Given the description of an element on the screen output the (x, y) to click on. 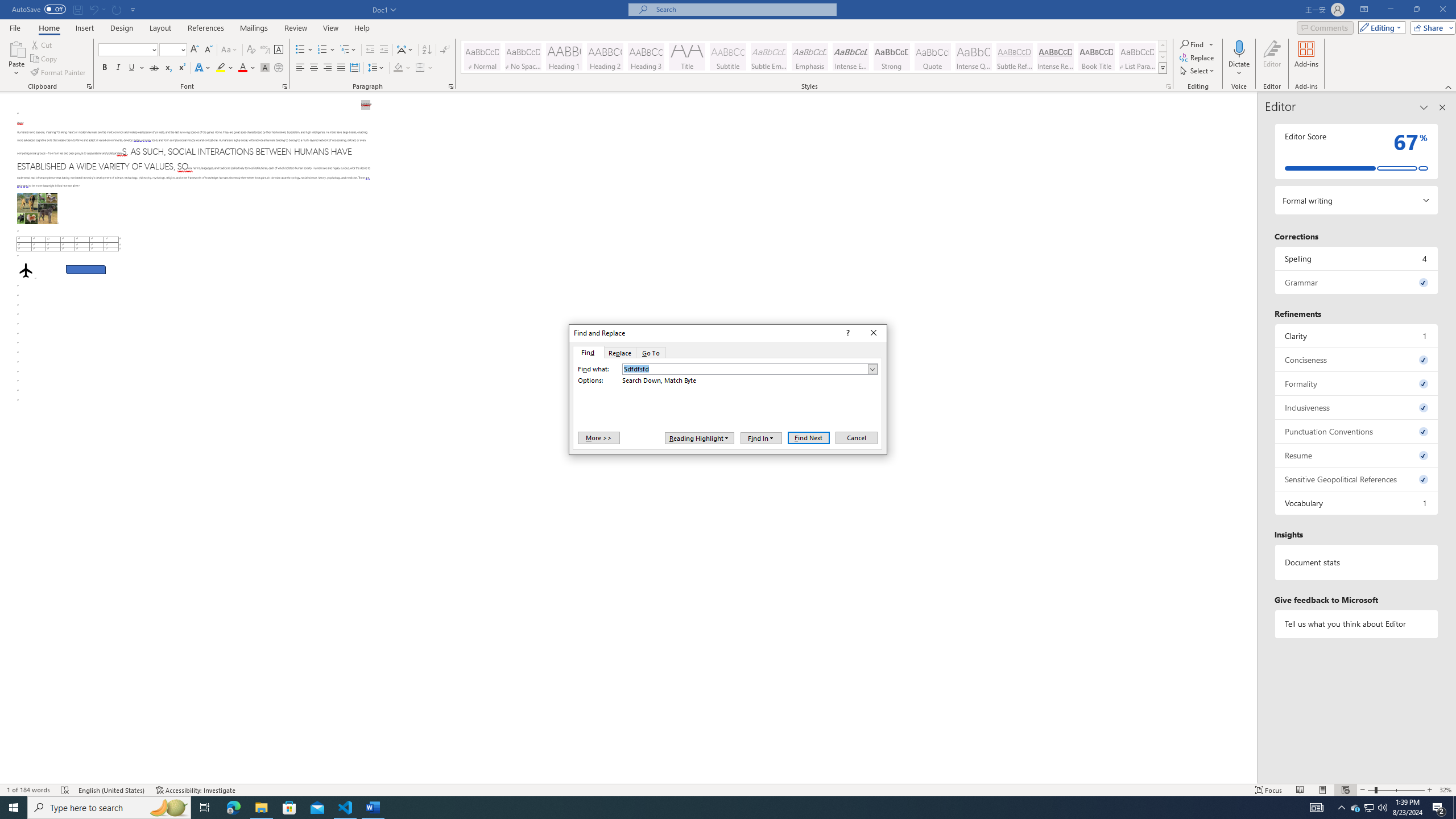
Tell us what you think about Editor (1356, 624)
Type here to search (108, 807)
Context help (847, 333)
Spelling, 4 issues. Press space or enter to review items. (1356, 258)
